Given the description of an element on the screen output the (x, y) to click on. 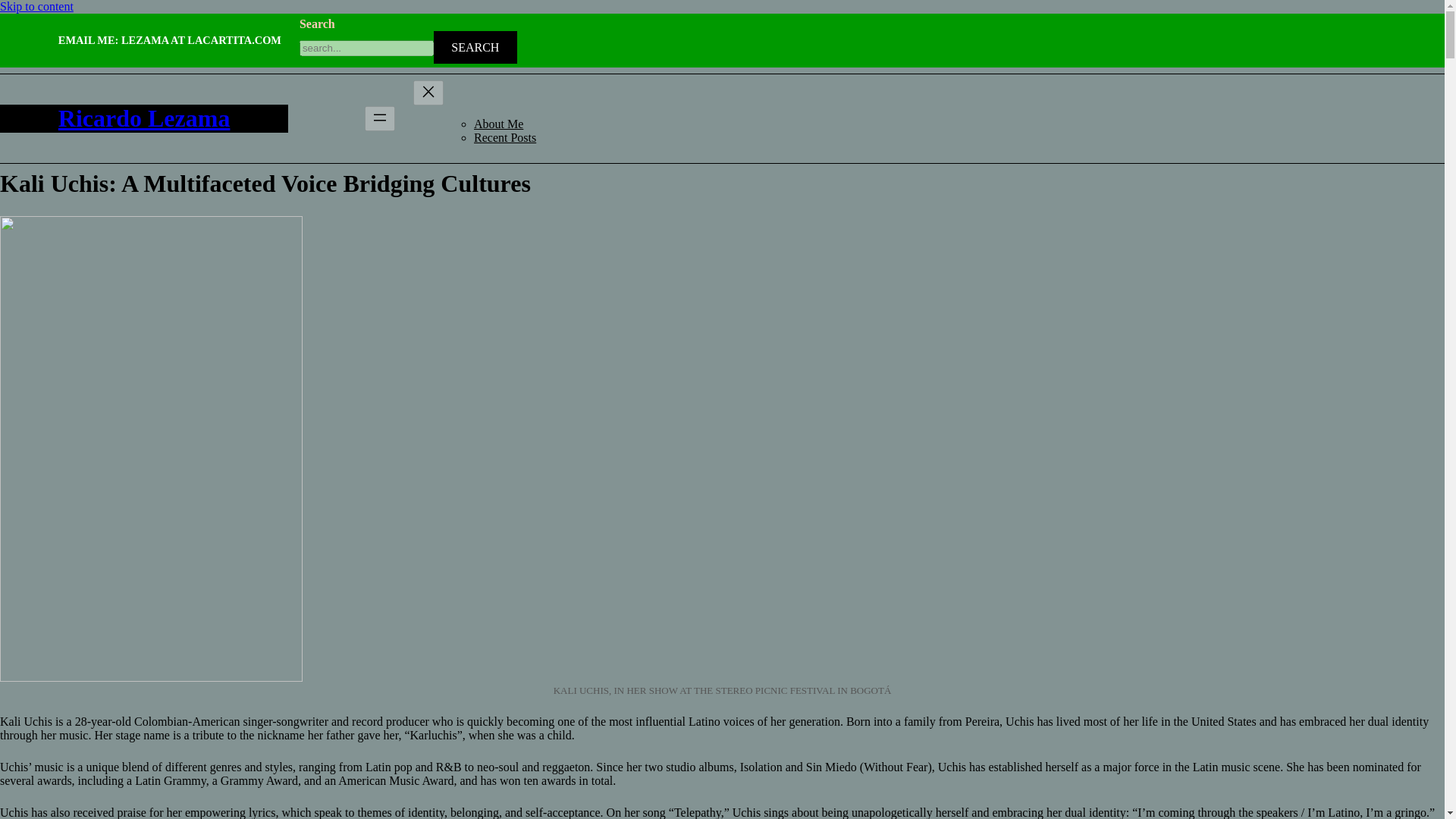
Recent Posts (504, 137)
About Me (498, 123)
Skip to content (37, 6)
Ricardo Lezama (144, 117)
SEARCH (474, 47)
